Given the description of an element on the screen output the (x, y) to click on. 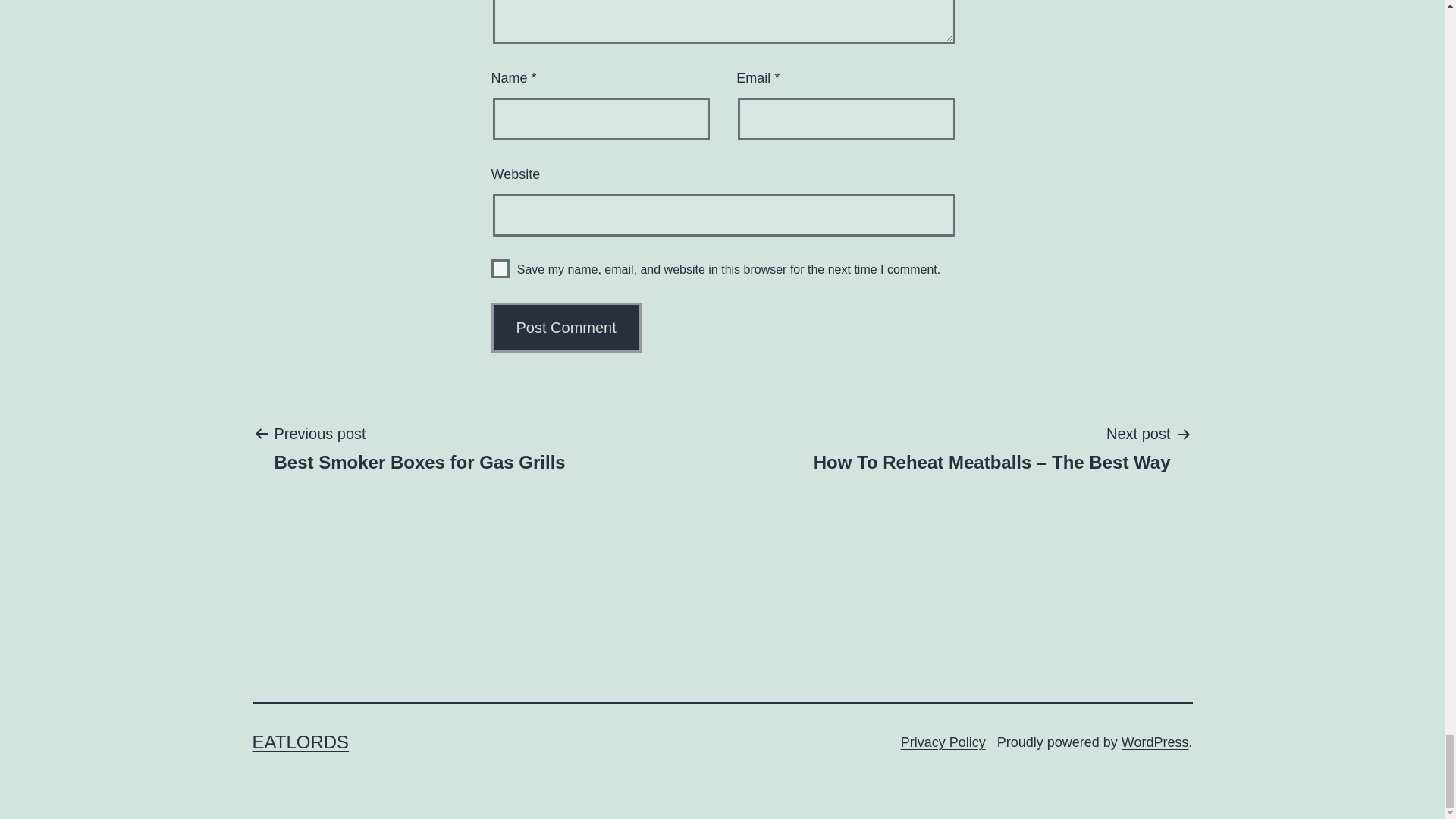
Privacy Policy (943, 742)
WordPress (1155, 742)
EATLORDS (300, 742)
Post Comment (418, 447)
yes (567, 327)
Post Comment (500, 268)
